Given the description of an element on the screen output the (x, y) to click on. 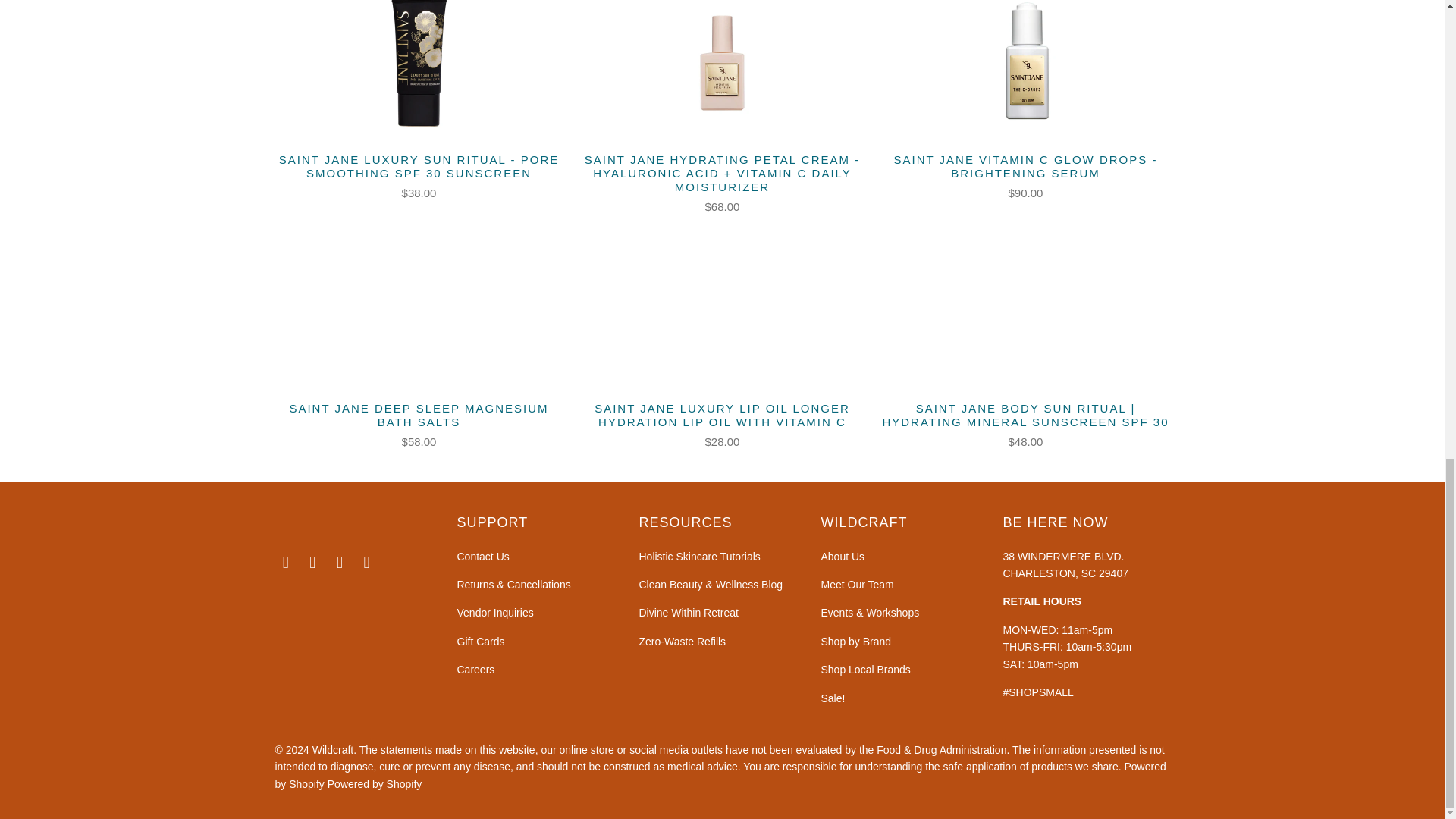
Wildcraft on Facebook (286, 562)
Wildcraft on TikTok (340, 562)
Wildcraft on Instagram (312, 562)
Wildcraft on YouTube (366, 562)
